Given the description of an element on the screen output the (x, y) to click on. 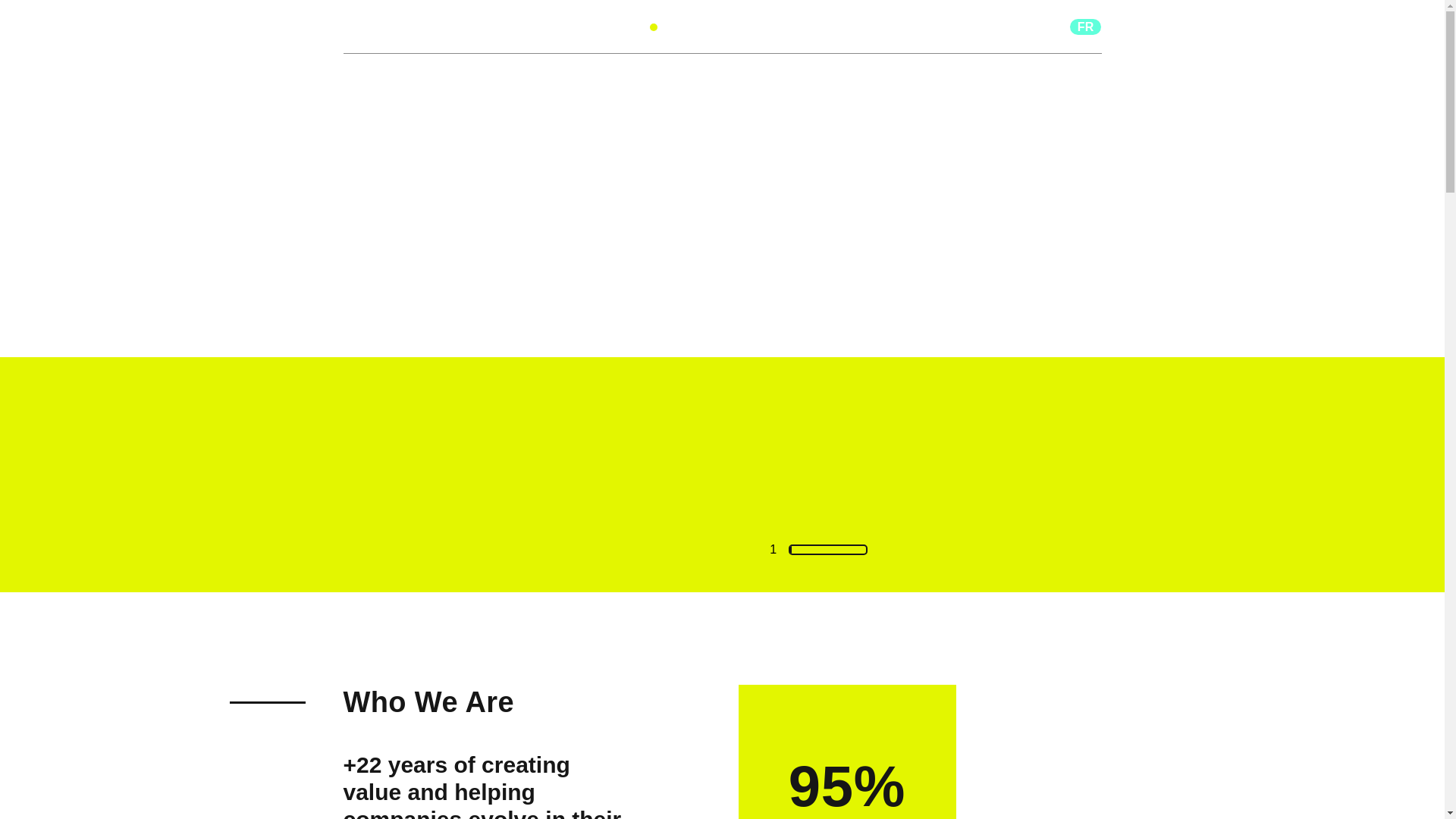
FR (1086, 26)
